Given the description of an element on the screen output the (x, y) to click on. 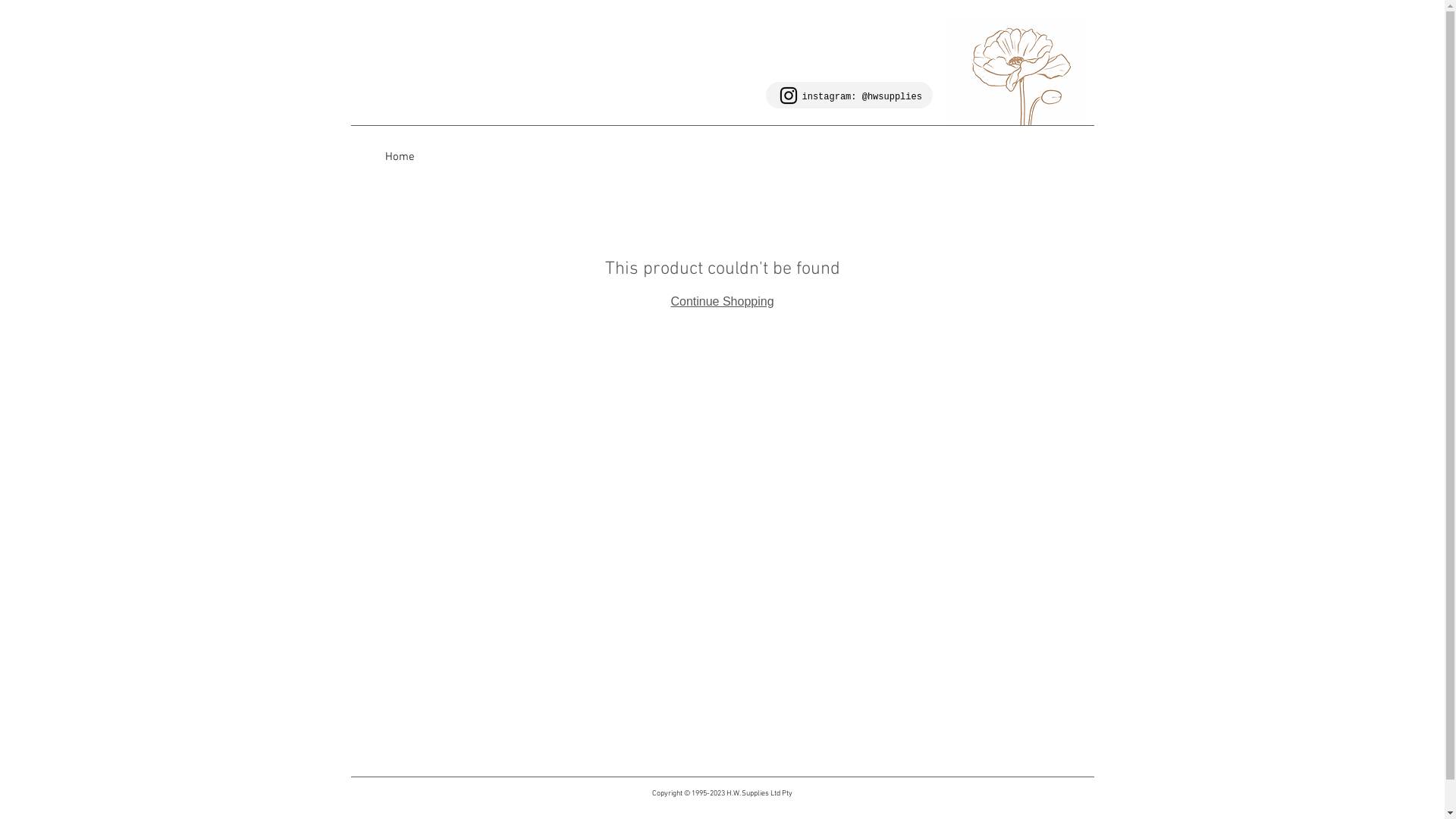
5fb575_1049e7ed323f4fee9b64277b82a1c392~mv2.png Element type: hover (1016, 71)
Home Element type: text (399, 155)
instagram: @hwsupplies Element type: text (862, 96)
Continue Shopping Element type: text (721, 300)
